Given the description of an element on the screen output the (x, y) to click on. 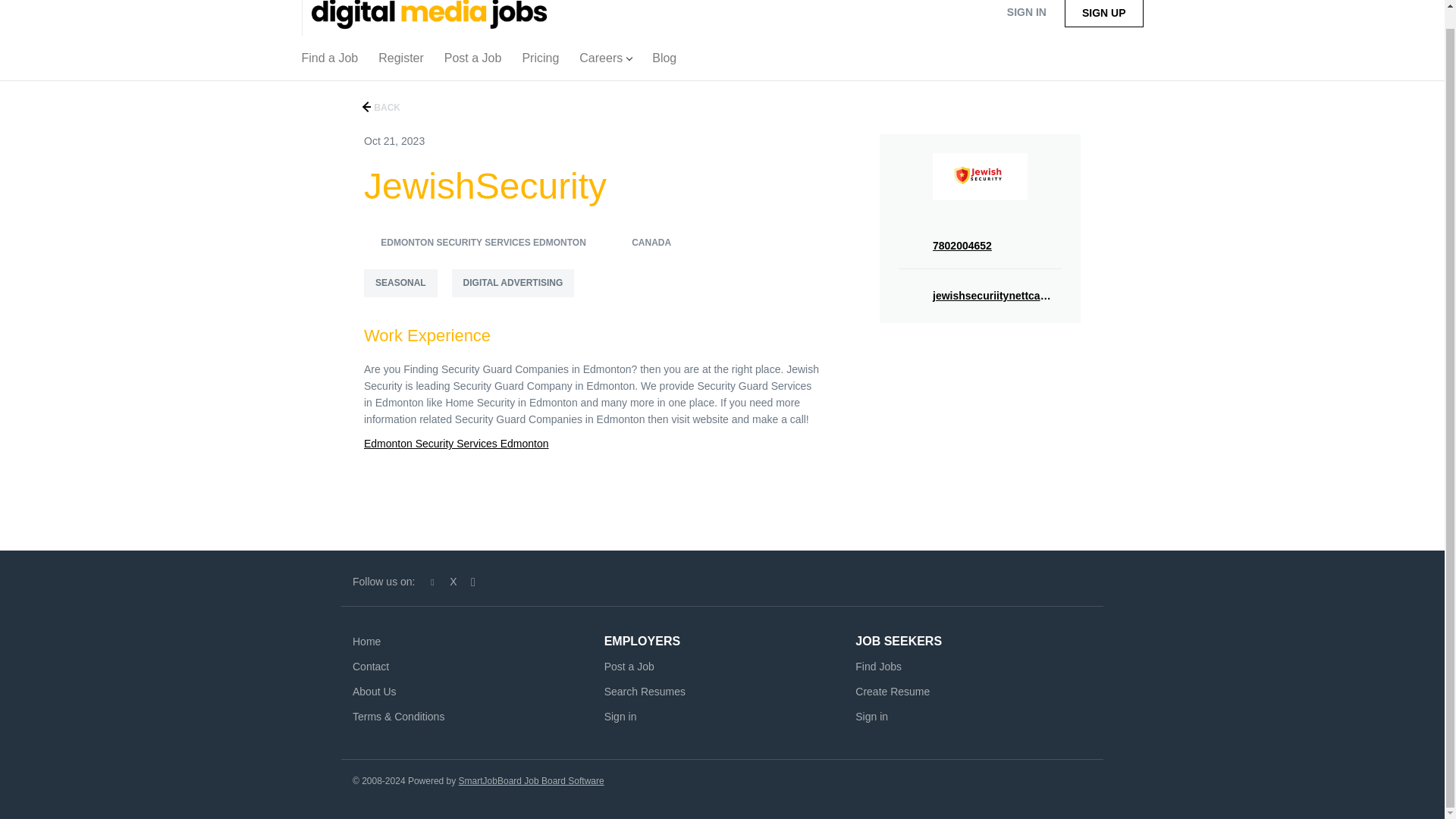
SIGN IN (1026, 15)
Find a Job (330, 61)
Post a Job (472, 61)
Pricing (539, 61)
Job Board Software, Script (531, 780)
SIGN UP (1103, 13)
Careers (605, 61)
Register (400, 61)
